Given the description of an element on the screen output the (x, y) to click on. 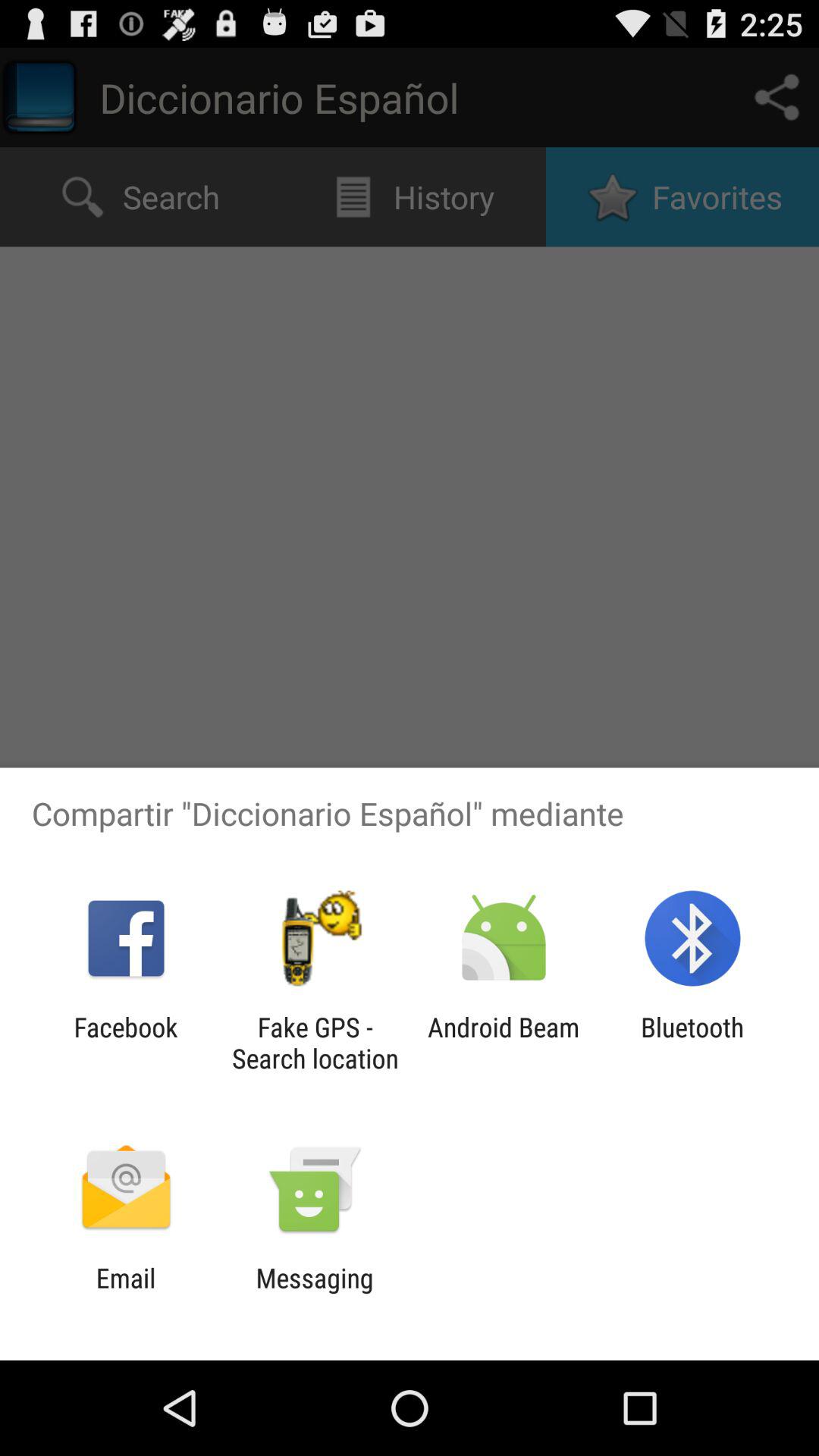
press the app next to bluetooth icon (503, 1042)
